Given the description of an element on the screen output the (x, y) to click on. 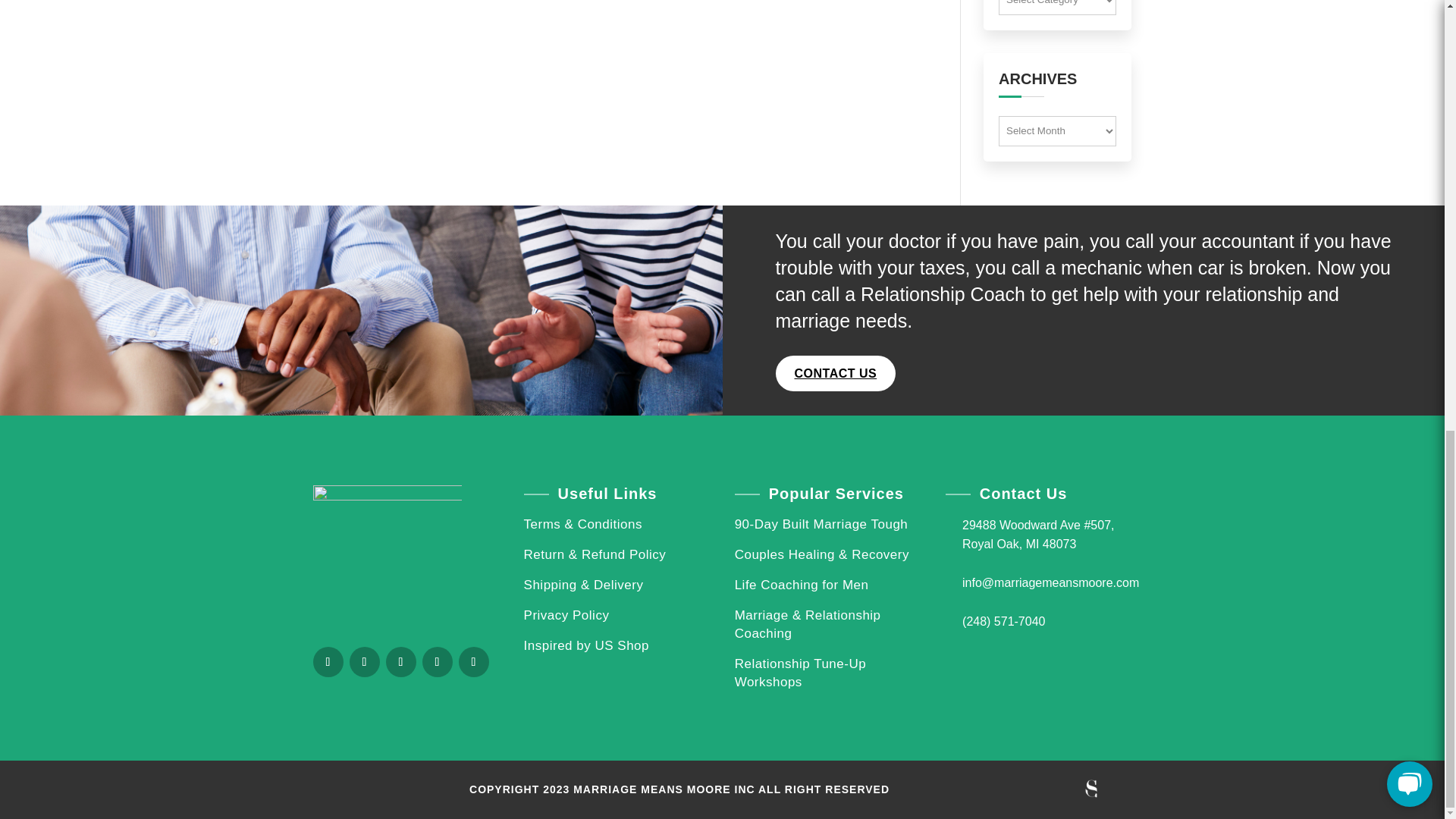
Follow on Instagram (399, 662)
Follow on Facebook (327, 662)
Follow on TikTok (472, 662)
Marriage Means Moore Logo Mono BW (387, 559)
Follow on Twitter (363, 662)
Follow on Youtube (436, 662)
Clarkes.Team - WordPress Maintenance (1090, 788)
